Given the description of an element on the screen output the (x, y) to click on. 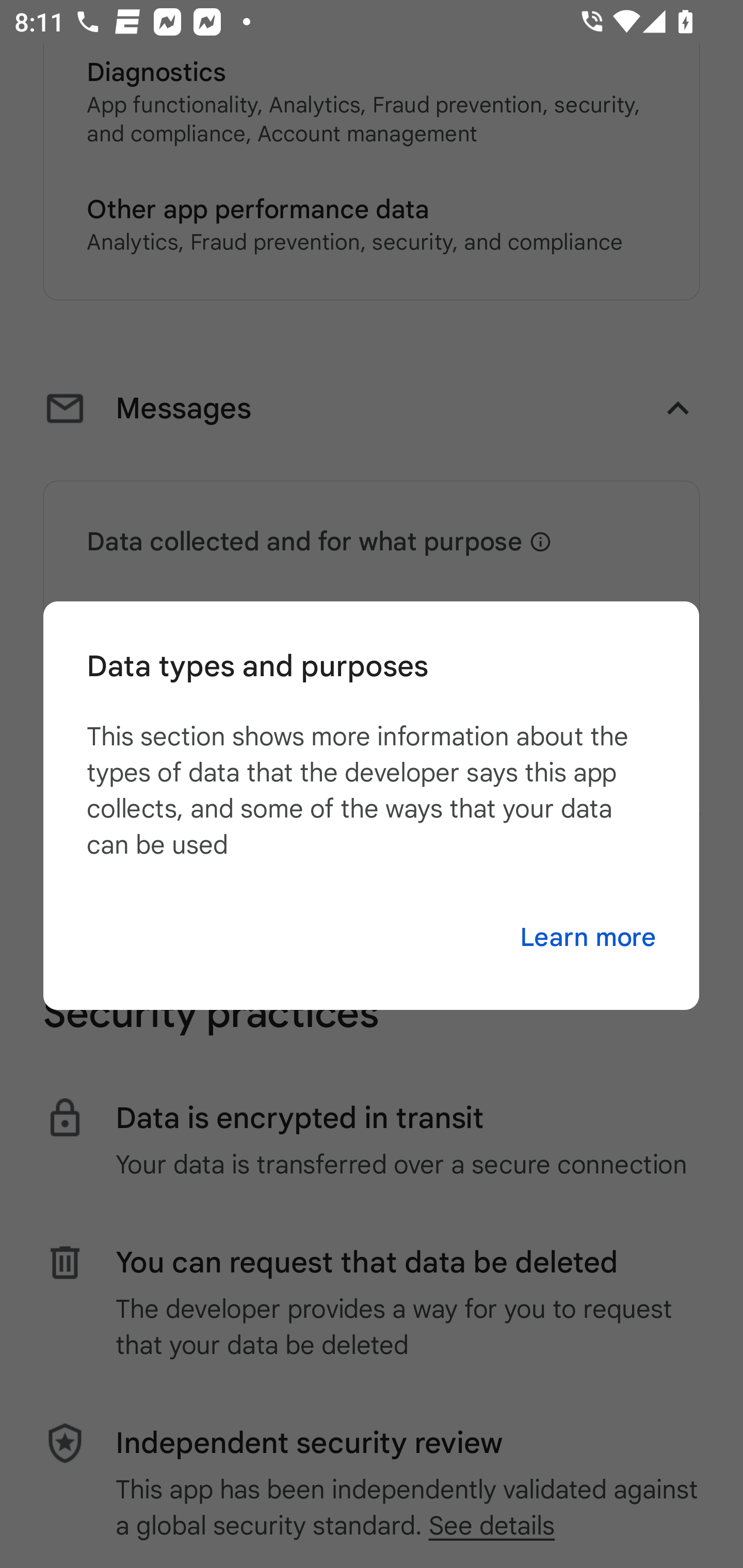
Learn more (588, 937)
